Given the description of an element on the screen output the (x, y) to click on. 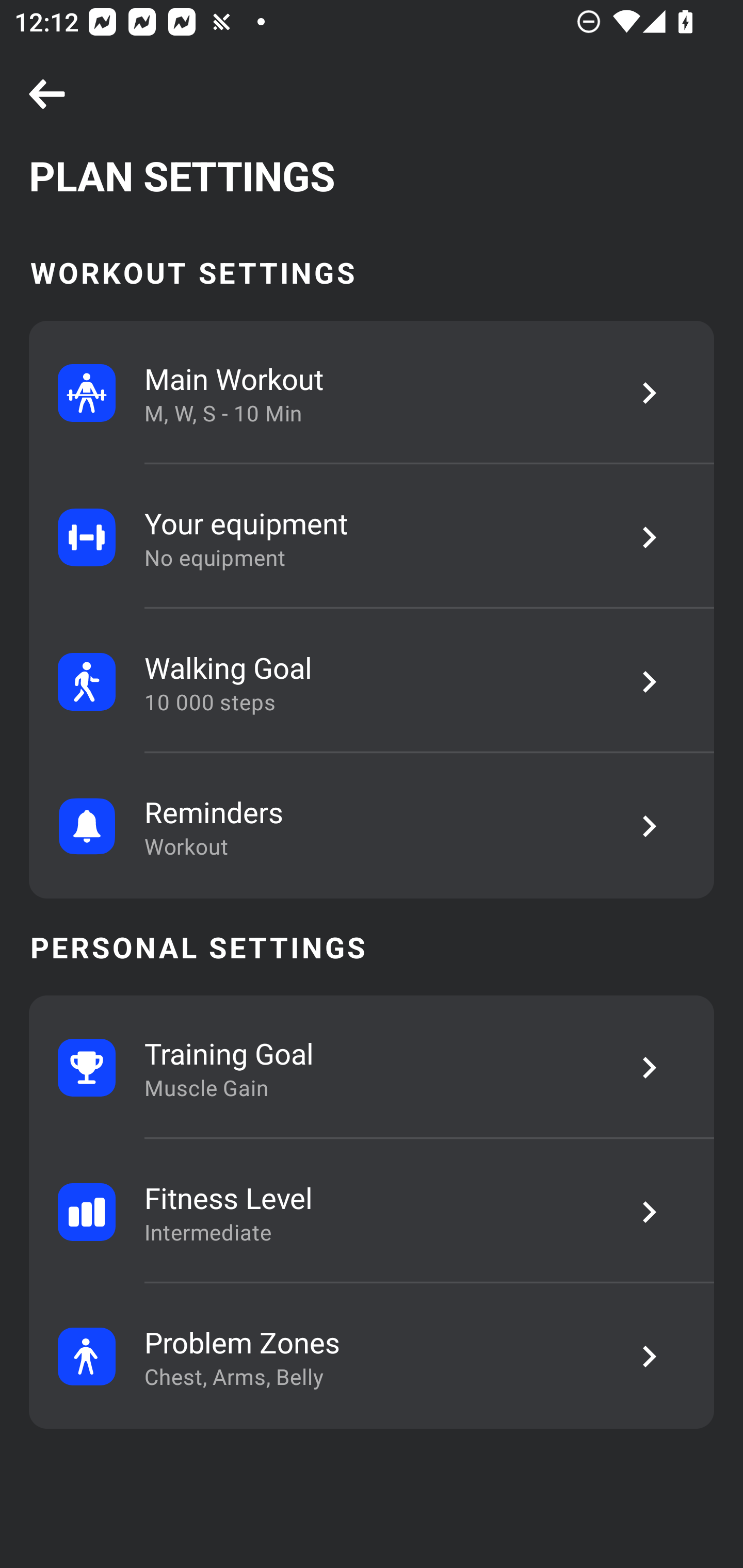
Navigation icon (46, 94)
EQUIPMENT Your equipment No equipment EQUIPMENT (371, 537)
REMINDERS Reminders Workout REMINDERS (371, 826)
